Given the description of an element on the screen output the (x, y) to click on. 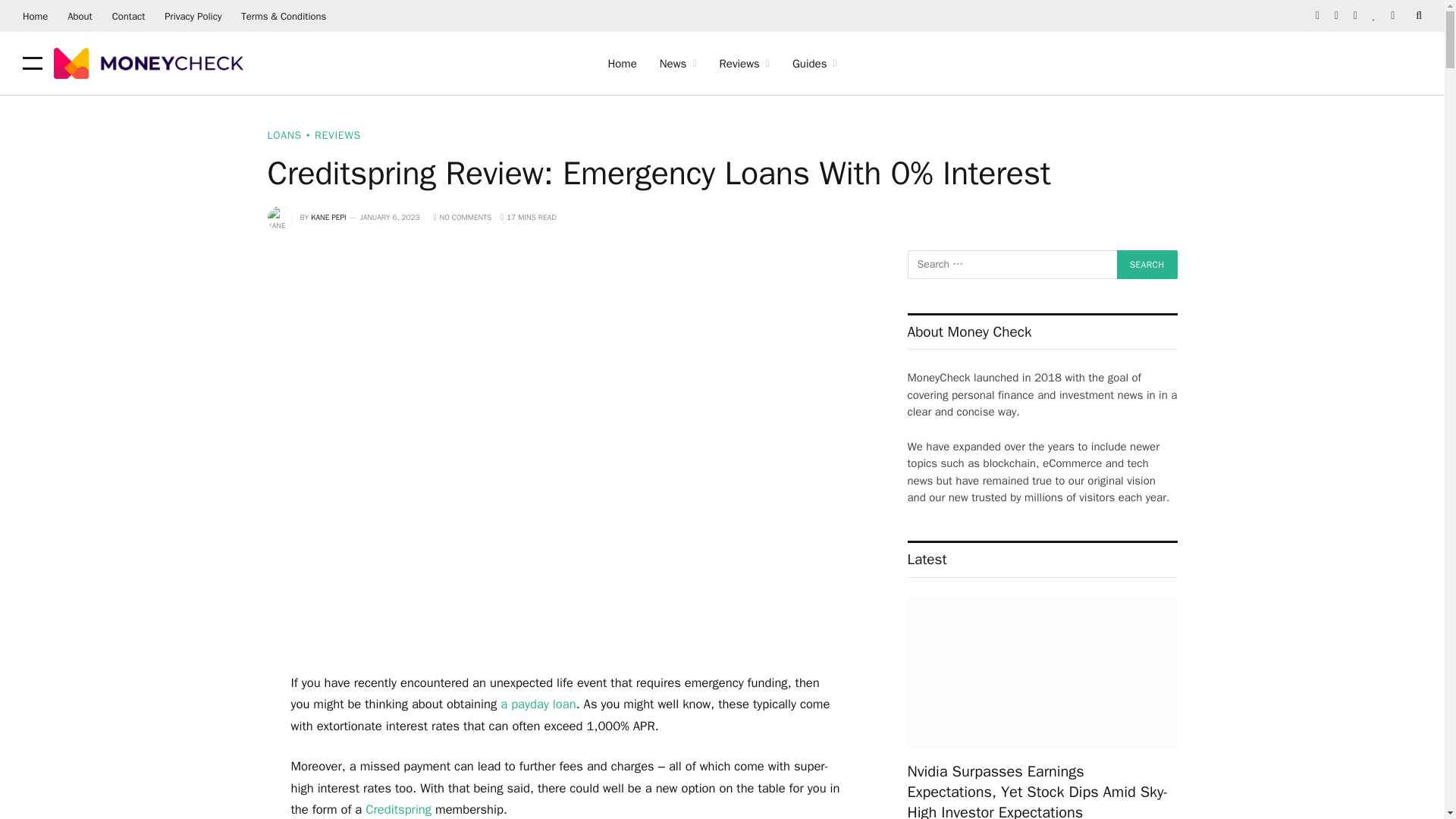
Search (1146, 264)
About (79, 15)
News (677, 63)
Privacy Policy (192, 15)
Search (1146, 264)
Contact (128, 15)
Home (35, 15)
MoneyCheck (148, 63)
